Given the description of an element on the screen output the (x, y) to click on. 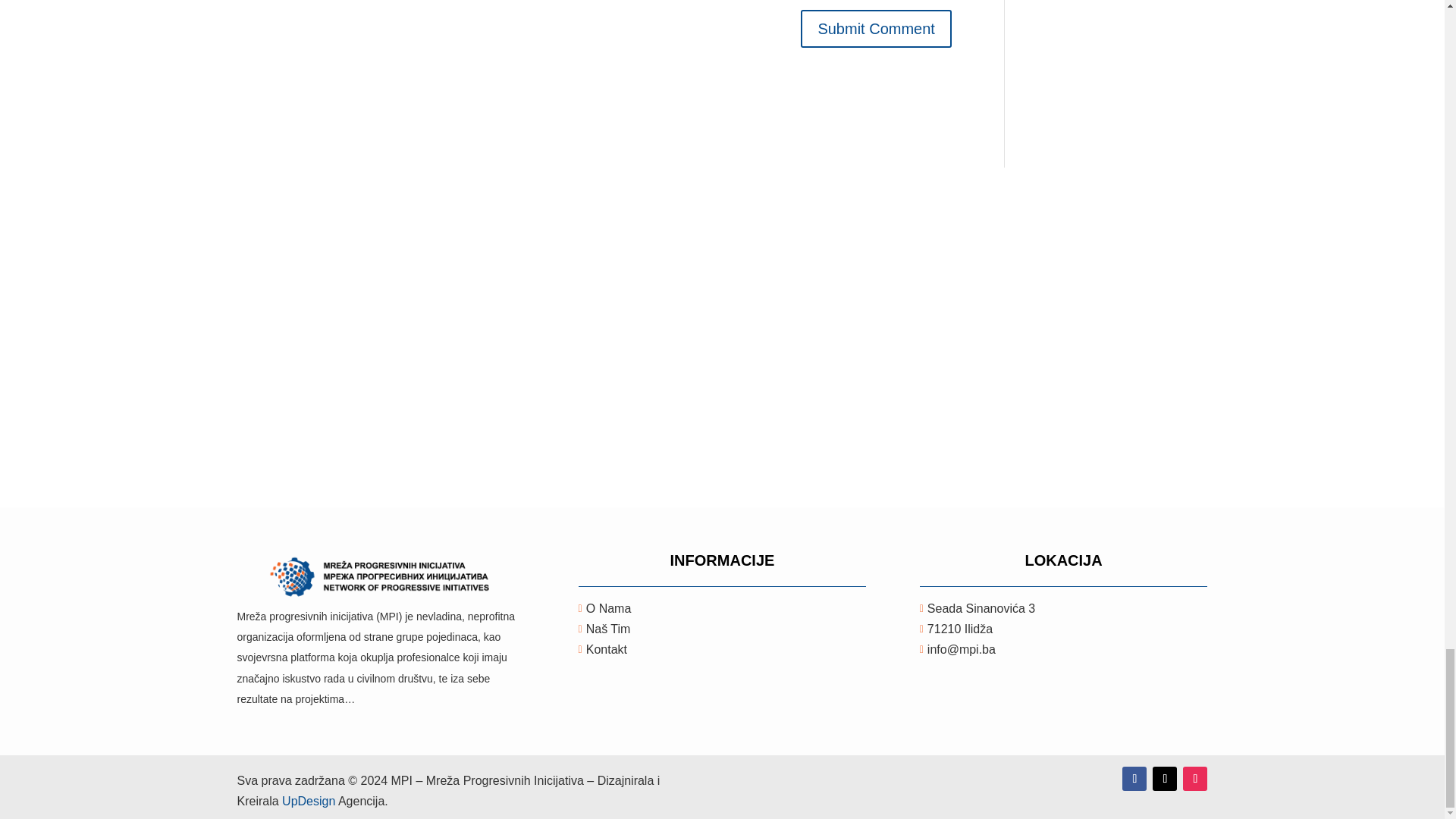
Submit Comment (876, 28)
Follow on Instagram (1194, 778)
Submit Comment (876, 28)
Follow on X (1164, 778)
MPI New Logo v2 (380, 577)
Follow on Facebook (1134, 778)
